Given the description of an element on the screen output the (x, y) to click on. 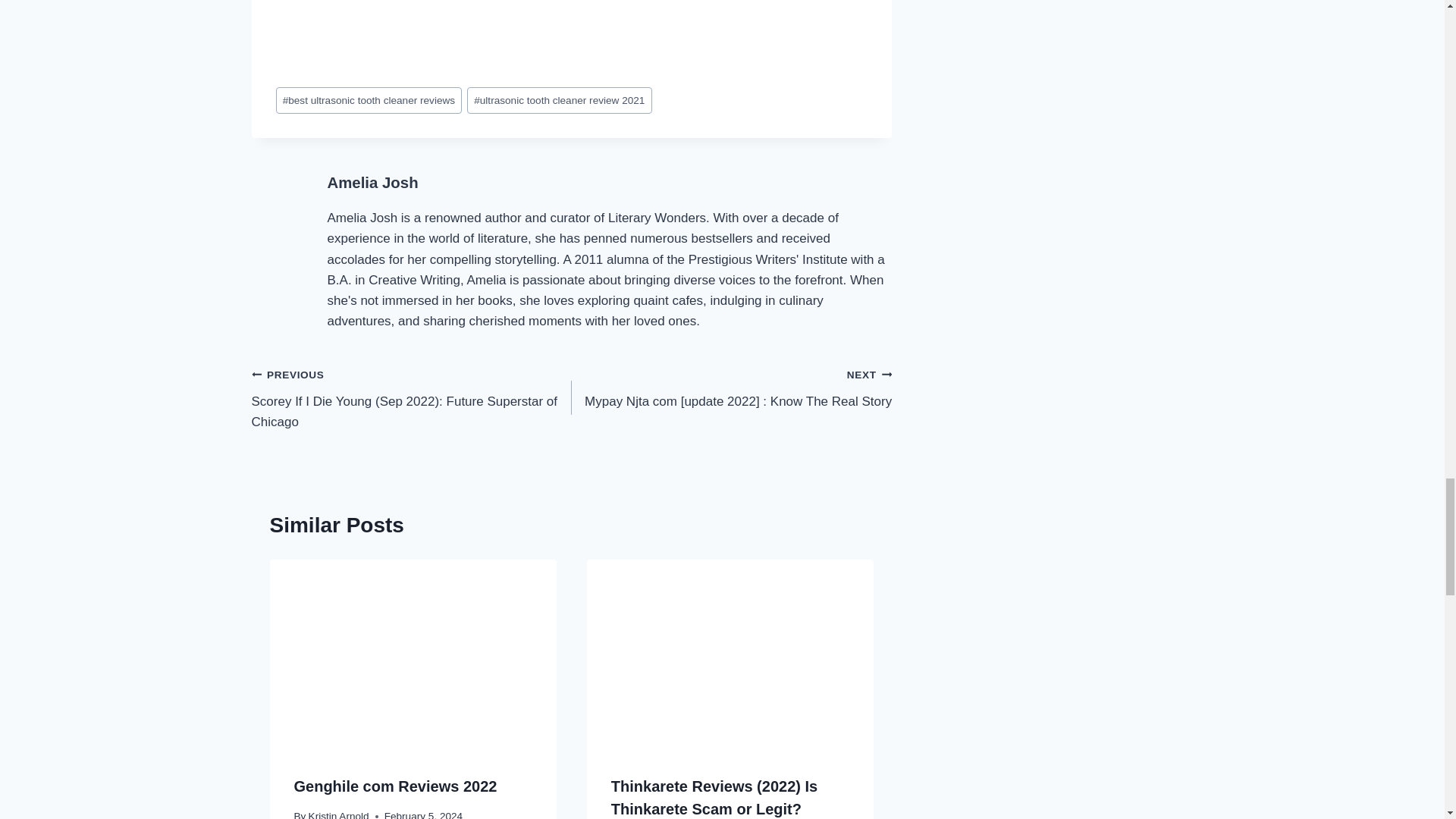
Amelia Josh (373, 182)
Kristin Arnold (338, 814)
ultrasonic tooth cleaner review 2021 (559, 99)
Genghile com Reviews 2022 (395, 786)
Posts by Amelia Josh (373, 182)
best ultrasonic tooth cleaner reviews (369, 99)
